Given the description of an element on the screen output the (x, y) to click on. 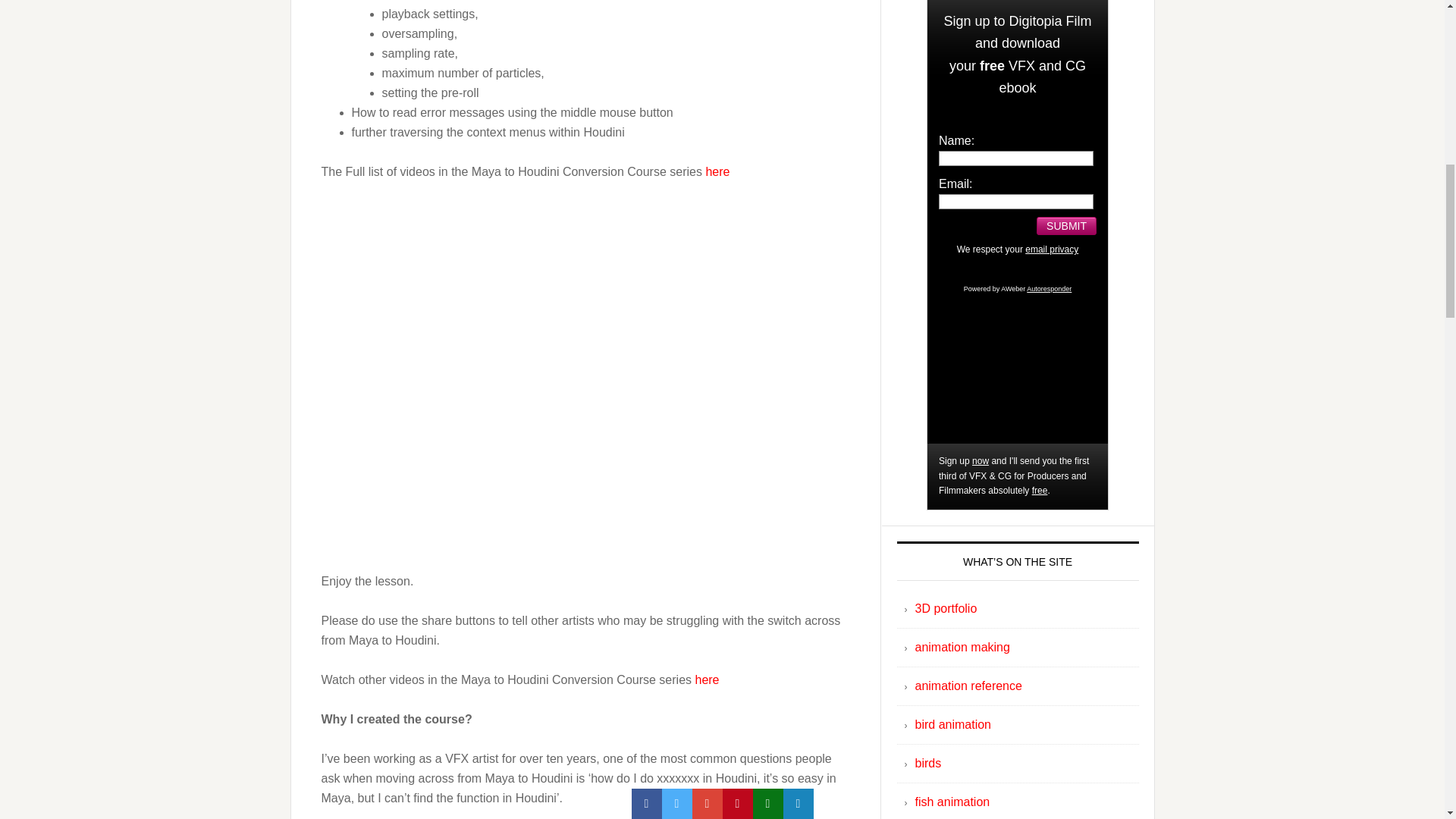
Submit (1066, 226)
Real practical advice on how to make your own animated films (961, 646)
Maya to Houdini Conversion Course - index page (706, 679)
Maya to Houdini Conversion Course - index page (716, 171)
Autoresponder (1048, 288)
here (716, 171)
here (706, 679)
Privacy Policy (1051, 249)
